Given the description of an element on the screen output the (x, y) to click on. 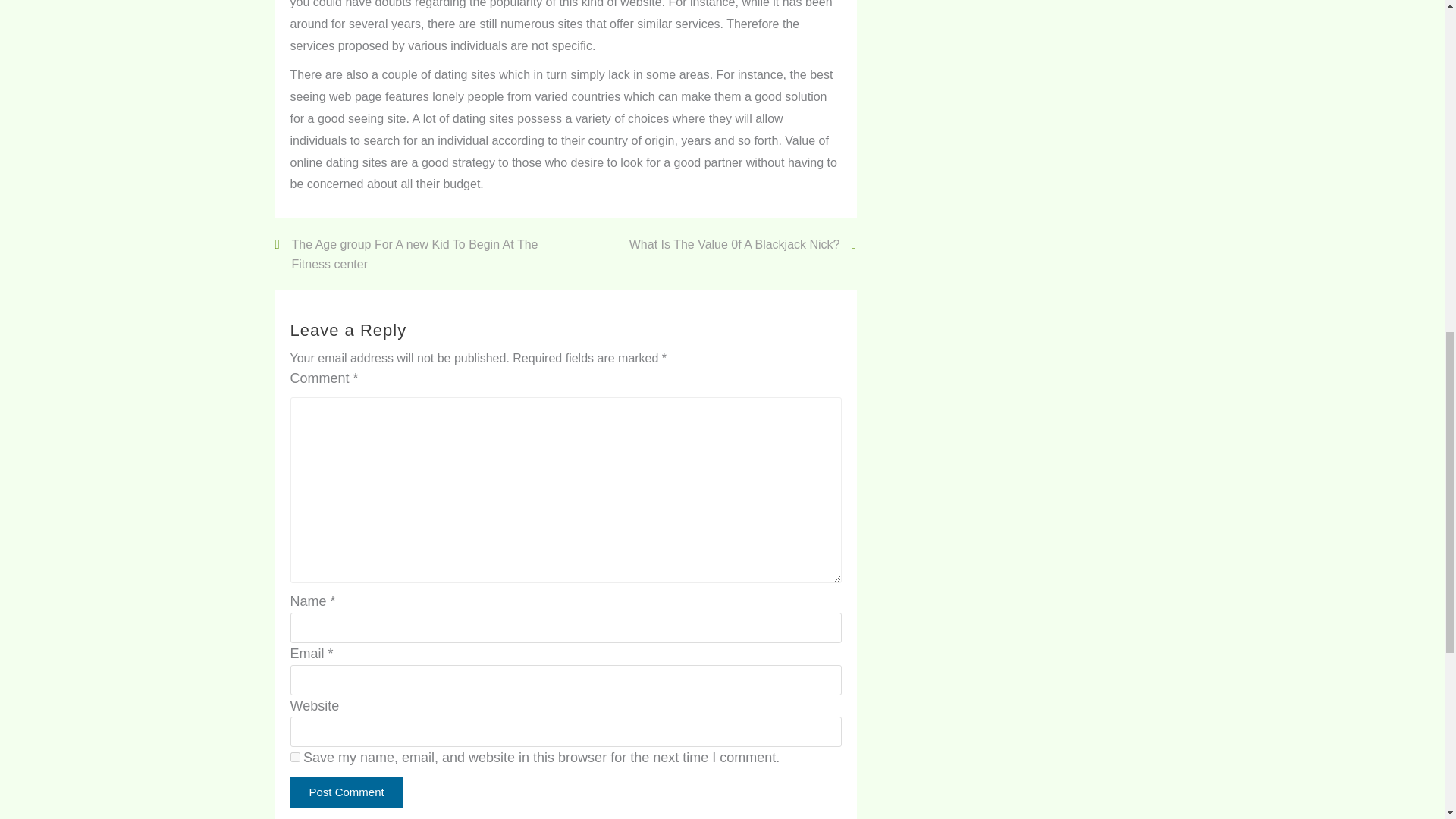
What Is The Value 0f A Blackjack Nick? (742, 244)
yes (294, 757)
Post Comment (346, 791)
Post Comment (346, 791)
The Age group For A new Kid To Begin At The Fitness center (420, 254)
